Given the description of an element on the screen output the (x, y) to click on. 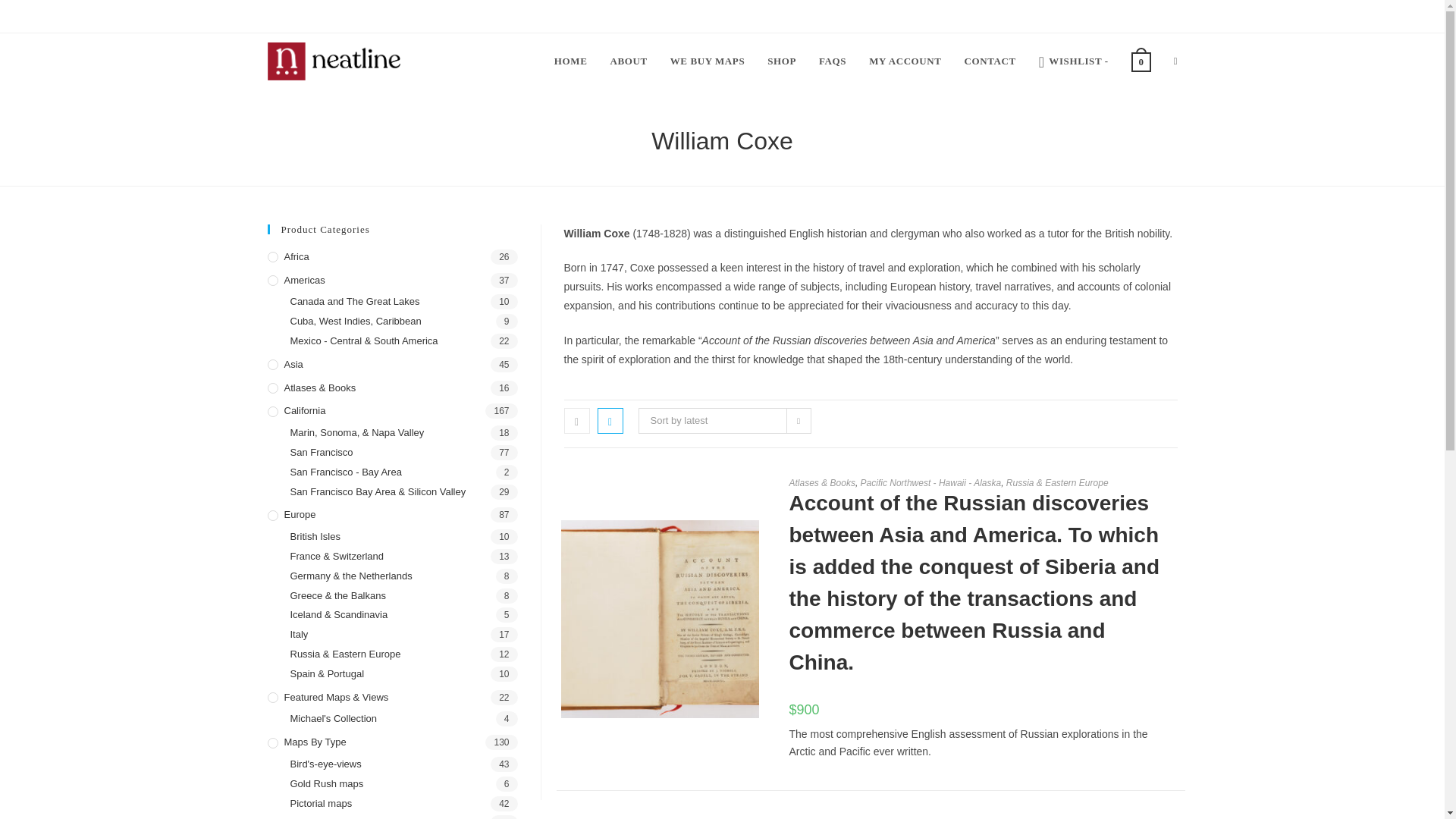
California (391, 411)
Americas (391, 280)
CONTACT (990, 61)
San Francisco (402, 453)
SHOP (781, 61)
British Isles (402, 537)
Asia (391, 365)
Europe (391, 514)
WE BUY MAPS (708, 61)
